Given the description of an element on the screen output the (x, y) to click on. 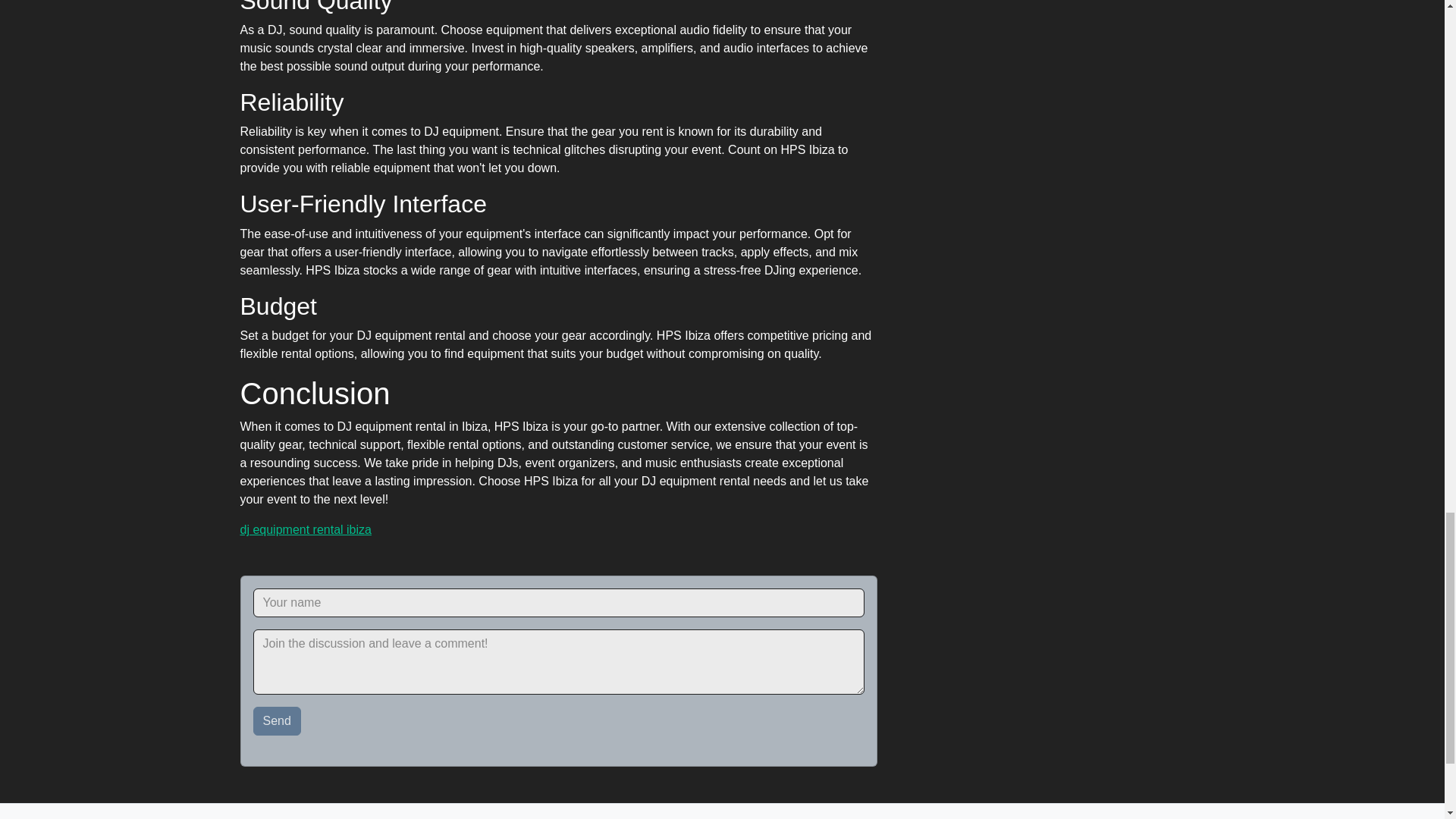
dj equipment rental ibiza (305, 529)
Send (277, 720)
Send (277, 720)
